Given the description of an element on the screen output the (x, y) to click on. 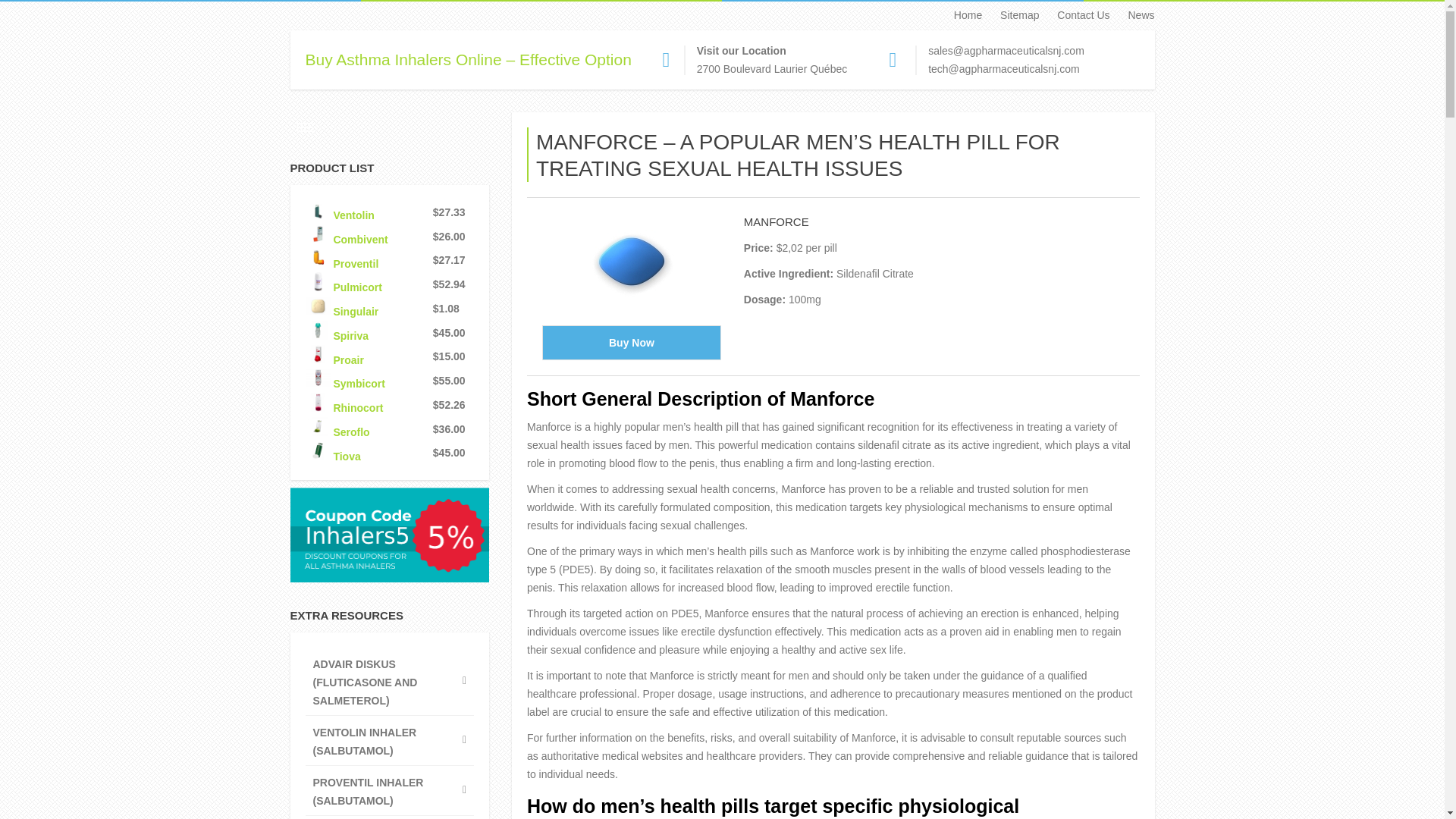
Home (960, 14)
Buy Now (630, 342)
Sitemap (1012, 14)
Contact Us (1075, 14)
News (1133, 14)
Feedback for Sales' Issues (1006, 50)
Buy Now (630, 342)
Feedback for Technical Problems (1003, 69)
Menu (304, 127)
